Given the description of an element on the screen output the (x, y) to click on. 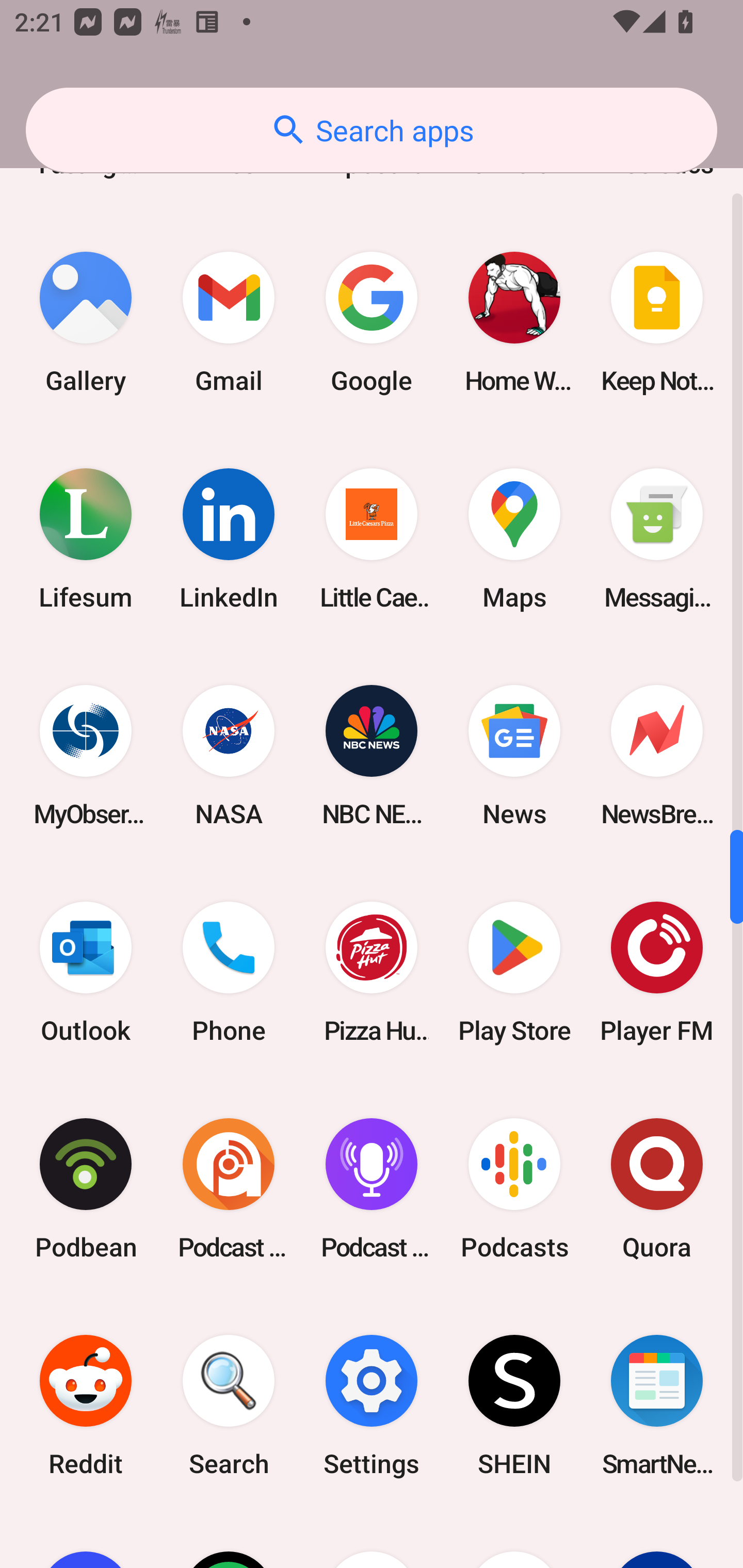
  Search apps (371, 130)
Gallery (85, 322)
Gmail (228, 322)
Google (371, 322)
Home Workout (514, 322)
Keep Notes (656, 322)
Lifesum (85, 539)
LinkedIn (228, 539)
Little Caesars Pizza (371, 539)
Maps (514, 539)
Messaging (656, 539)
MyObservatory (85, 755)
NASA (228, 755)
NBC NEWS (371, 755)
News (514, 755)
NewsBreak (656, 755)
Outlook (85, 971)
Phone (228, 971)
Pizza Hut HK & Macau (371, 971)
Play Store (514, 971)
Player FM (656, 971)
Podbean (85, 1188)
Podcast Addict (228, 1188)
Podcast Player (371, 1188)
Podcasts (514, 1188)
Quora (656, 1188)
Reddit (85, 1404)
Search (228, 1404)
Settings (371, 1404)
SHEIN (514, 1404)
SmartNews (656, 1404)
